Given the description of an element on the screen output the (x, y) to click on. 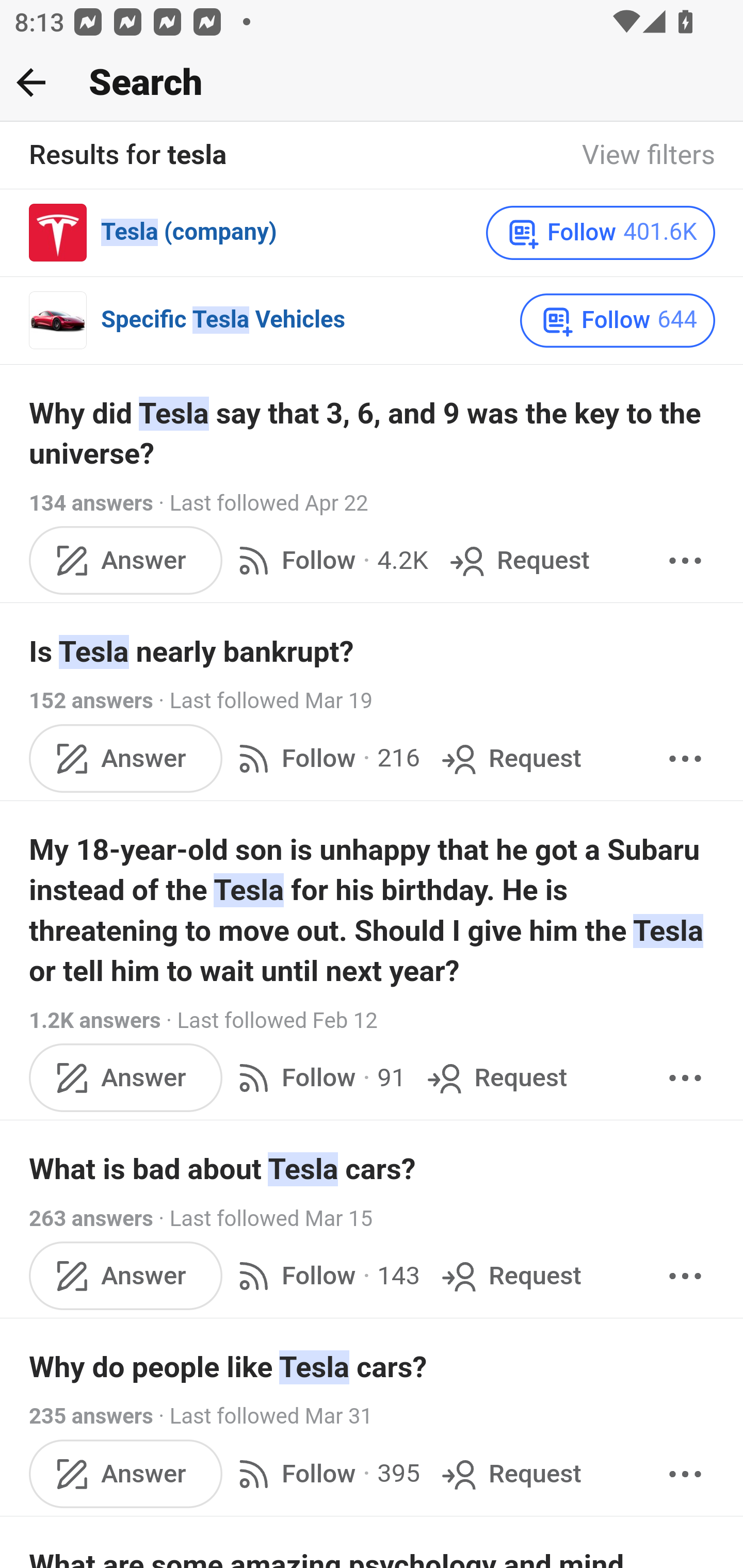
Back Search (371, 82)
Back (30, 82)
View filters (648, 155)
Follow 401.6K (599, 232)
Follow 644 (618, 320)
134 answers 134  answers (90, 503)
Answer (125, 560)
Follow · 4.2K (329, 560)
Request (517, 560)
More (684, 560)
Is Tesla nearly bankrupt? (372, 652)
152 answers 152  answers (90, 701)
Answer (125, 758)
Follow · 216 (324, 758)
Request (509, 758)
More (684, 758)
1.2K answers 1.2K  answers (95, 1020)
Answer (125, 1077)
Follow · 91 (317, 1077)
Request (495, 1077)
More (684, 1077)
What is bad about Tesla cars? (372, 1169)
263 answers 263  answers (90, 1218)
Answer (125, 1275)
Follow · 143 (324, 1275)
Request (509, 1275)
More (684, 1275)
Why do people like Tesla cars? (372, 1367)
235 answers 235  answers (90, 1416)
Answer (125, 1474)
Follow · 395 (324, 1474)
Request (509, 1474)
More (684, 1474)
